Given the description of an element on the screen output the (x, y) to click on. 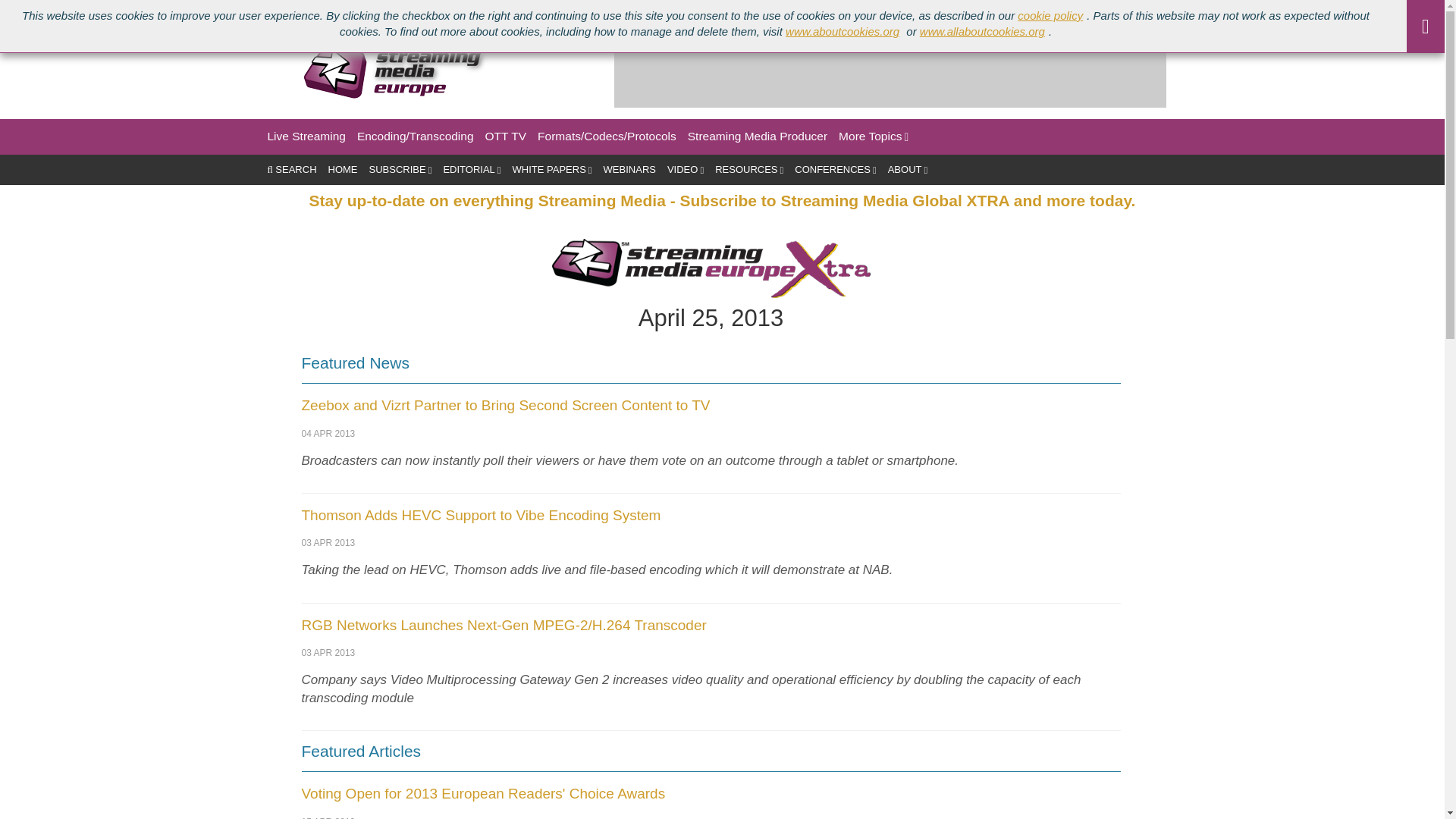
More Topics (873, 136)
EDITORIAL (471, 169)
U.S. SITE (27, 10)
OTT TV (505, 136)
 SEARCH (290, 169)
SOURCEBOOK (491, 10)
STREAMING MEDIA NYC (381, 10)
Streaming Media Producer (757, 136)
OTT TV (505, 136)
www.aboutcookies.org (844, 31)
Live Streaming (305, 136)
HOME (343, 169)
www.allaboutcookies.org (984, 31)
3rd party ad content (890, 73)
Streaming Media Producer (757, 136)
